Given the description of an element on the screen output the (x, y) to click on. 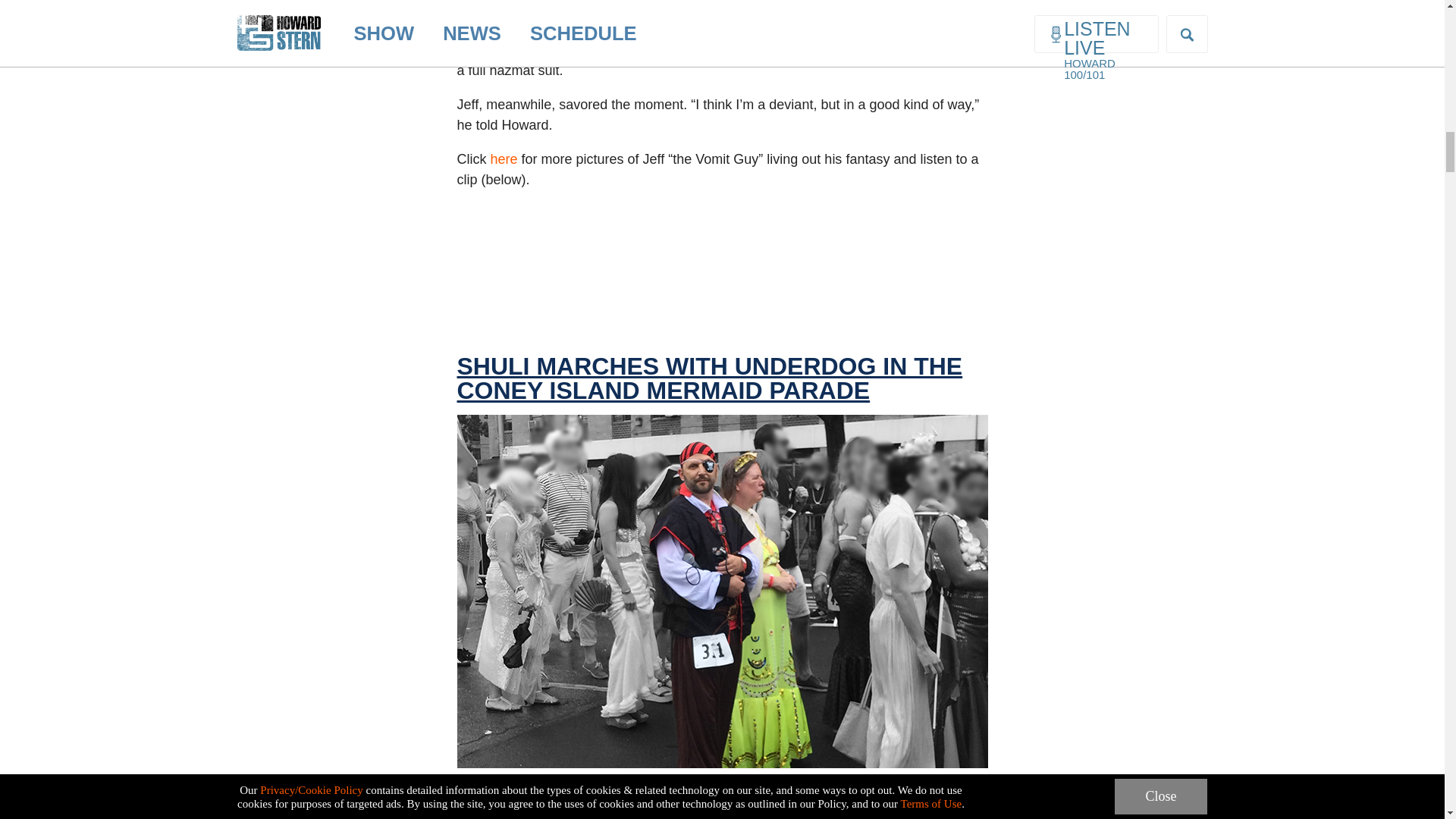
here (502, 159)
